Given the description of an element on the screen output the (x, y) to click on. 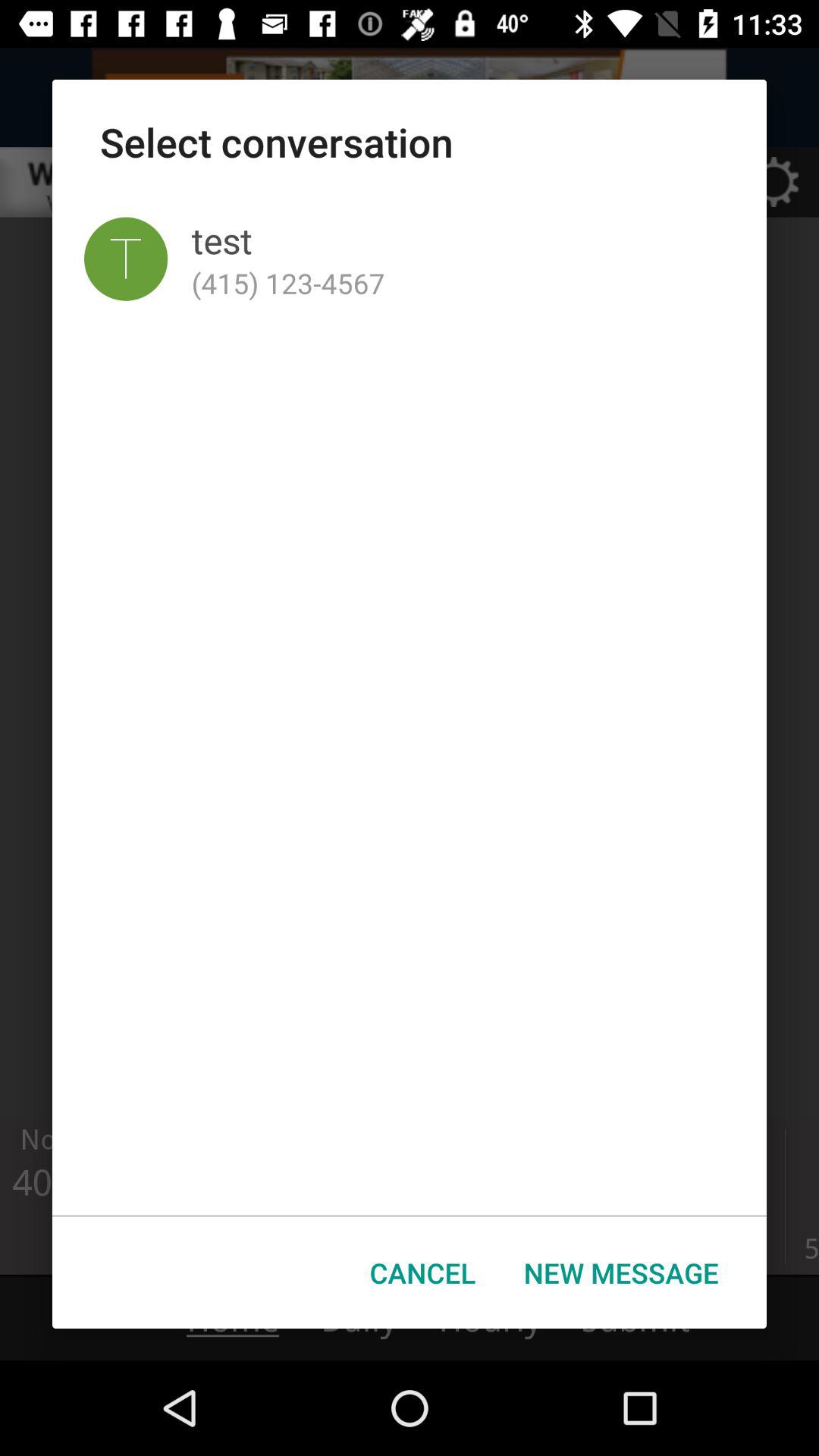
select the item to the left of new message (422, 1272)
